Given the description of an element on the screen output the (x, y) to click on. 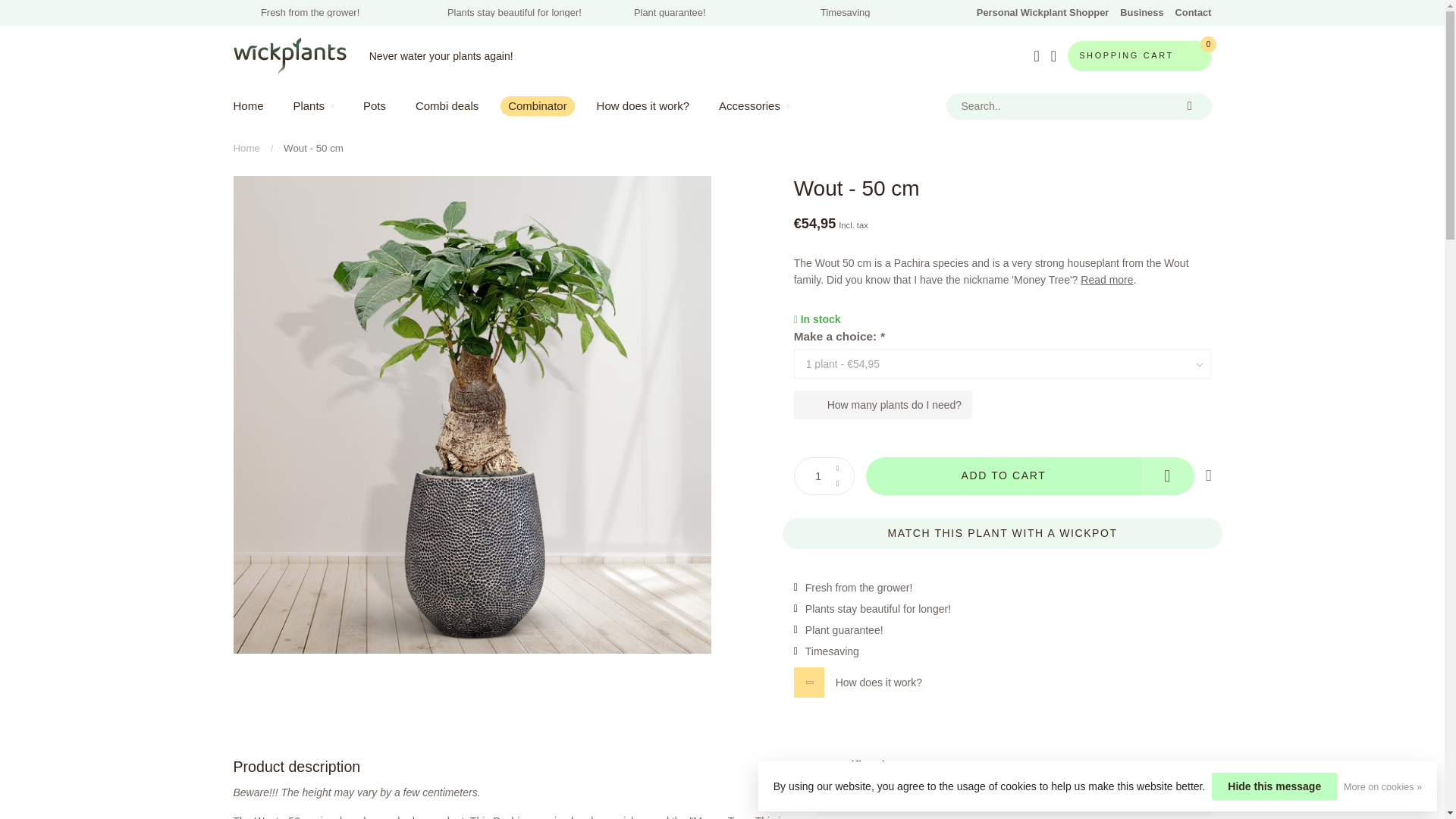
Wout - 50 cm (313, 147)
Home (246, 147)
MATCH THIS PLANT WITH A WICKPOT (1003, 532)
Combi deals (446, 106)
Read more. (1107, 278)
1 (1060, 244)
How does it work? (643, 106)
How does it work? (1002, 682)
How many plants do I need? (882, 404)
Plants (312, 106)
Personal Wickplant Shopper (1042, 12)
Business (1141, 12)
How does it work? (1002, 682)
1 (823, 476)
